Given the description of an element on the screen output the (x, y) to click on. 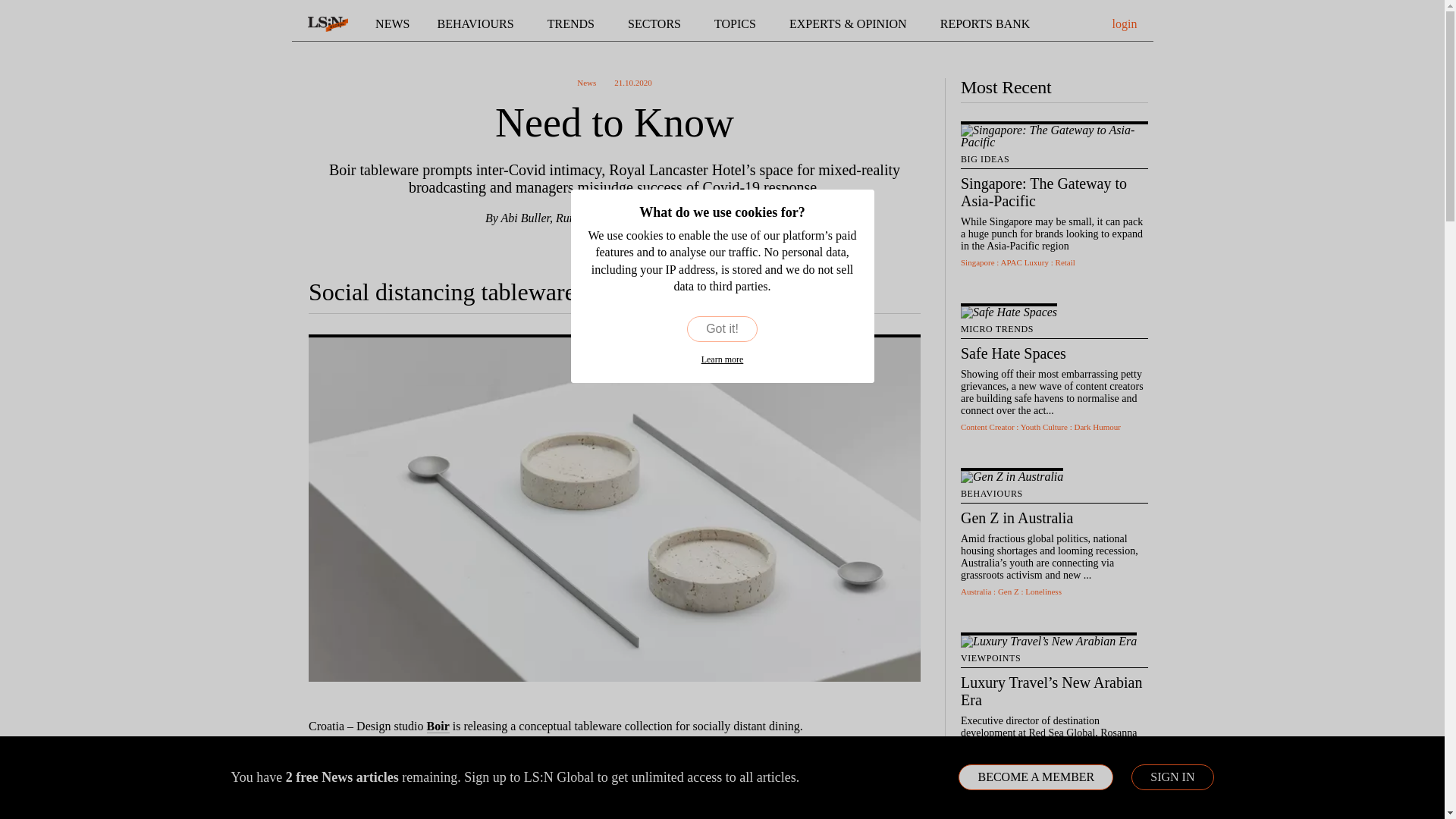
Trends (573, 24)
News (392, 24)
BEHAVIOURS (478, 24)
TRENDS (573, 24)
NEWS (392, 24)
Behaviours (478, 24)
LS:N Global (327, 24)
